Given the description of an element on the screen output the (x, y) to click on. 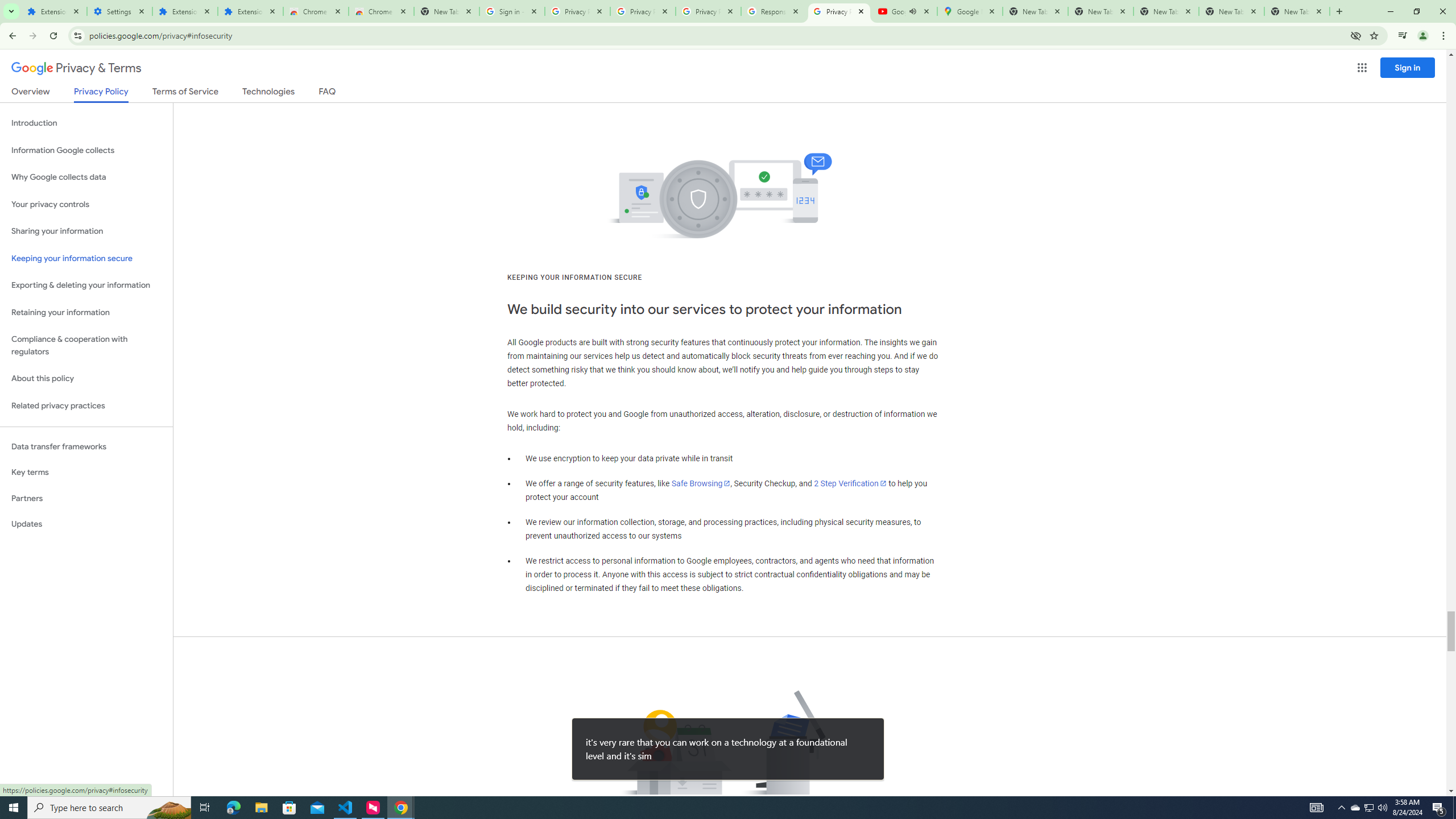
Your privacy controls (86, 204)
Key terms (86, 472)
Chrome Web Store (315, 11)
New Tab (446, 11)
Settings (119, 11)
Data transfer frameworks (86, 446)
Sign in - Google Accounts (512, 11)
Google Maps (969, 11)
Compliance & cooperation with regulators (86, 345)
